Given the description of an element on the screen output the (x, y) to click on. 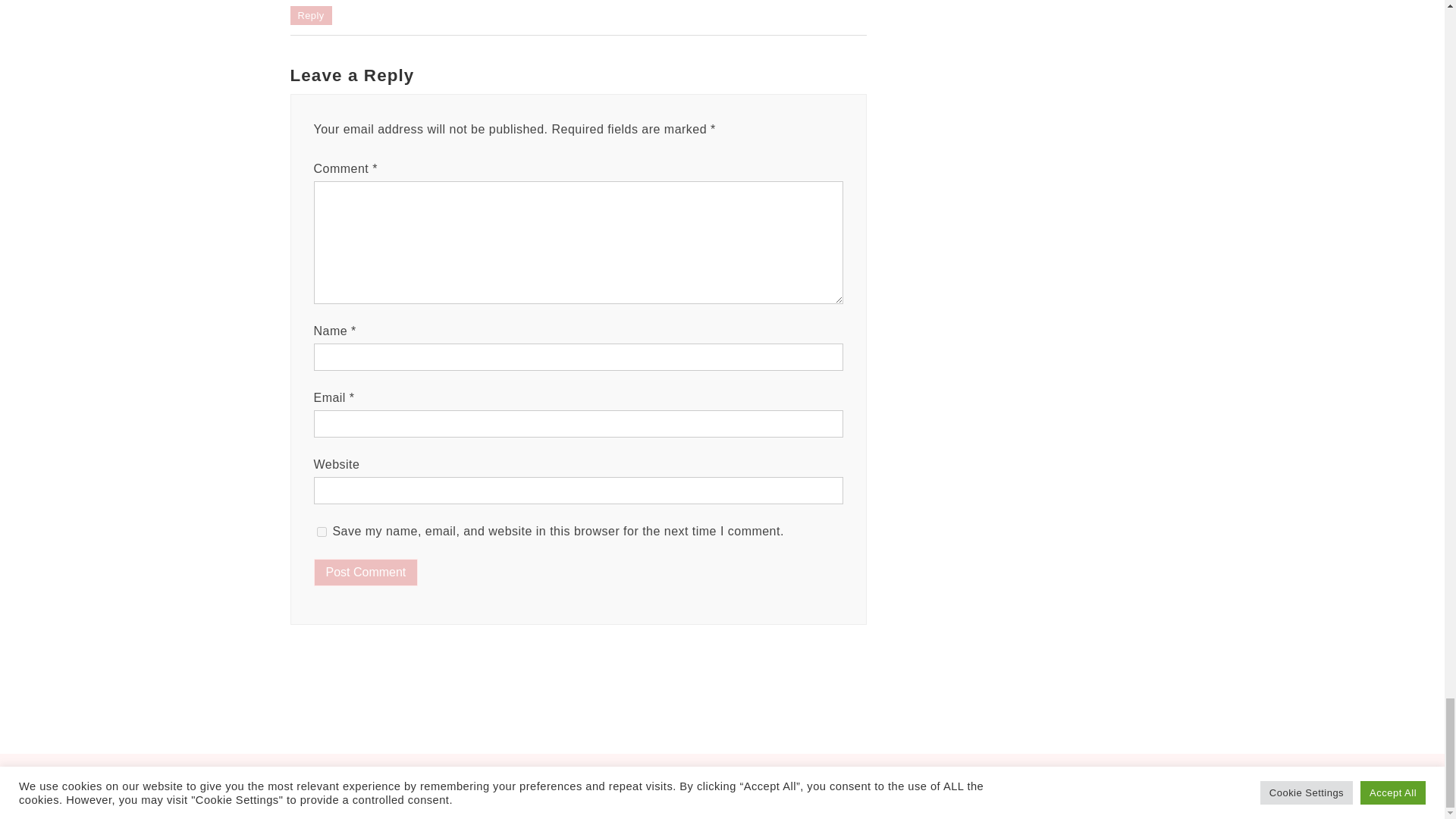
yes (321, 532)
Post Comment (366, 572)
